Given the description of an element on the screen output the (x, y) to click on. 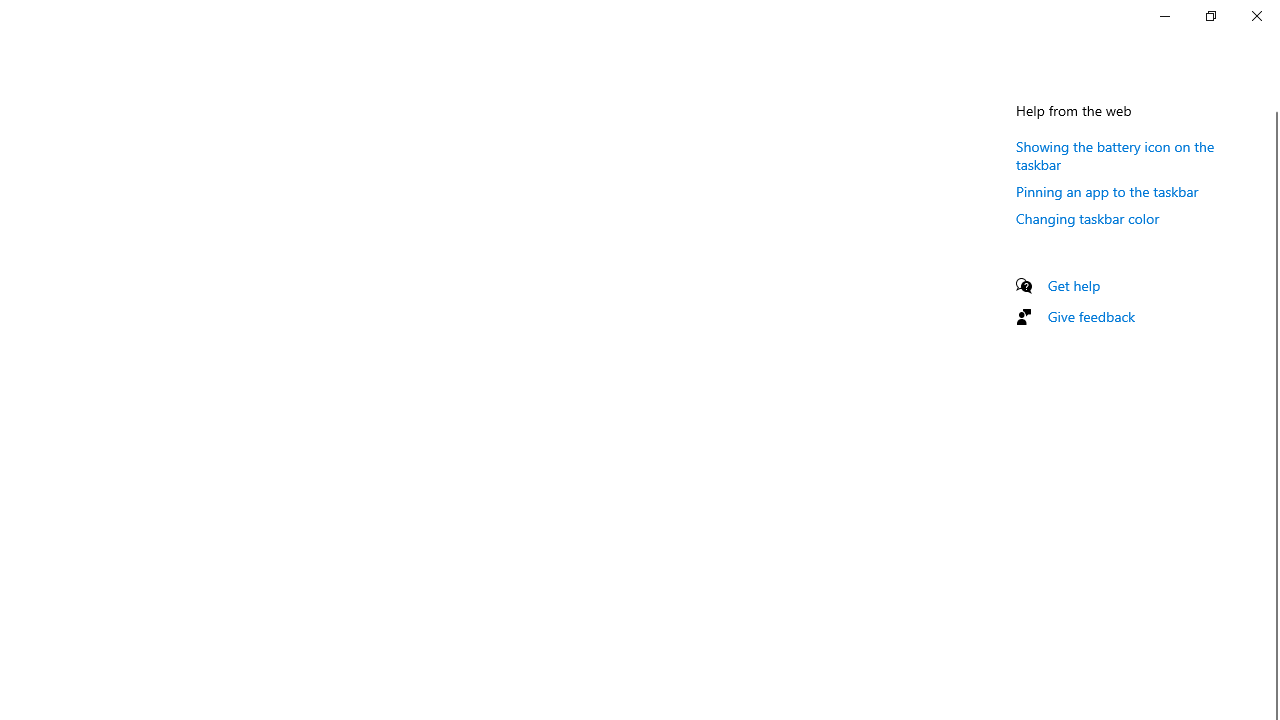
Showing the battery icon on the taskbar (1115, 155)
Minimize Settings (1164, 15)
Close Settings (1256, 15)
Restore Settings (1210, 15)
Pinning an app to the taskbar (1107, 191)
Changing taskbar color (1087, 218)
Give feedback (1091, 316)
Get help (1074, 285)
Vertical Small Decrease (1272, 103)
